Given the description of an element on the screen output the (x, y) to click on. 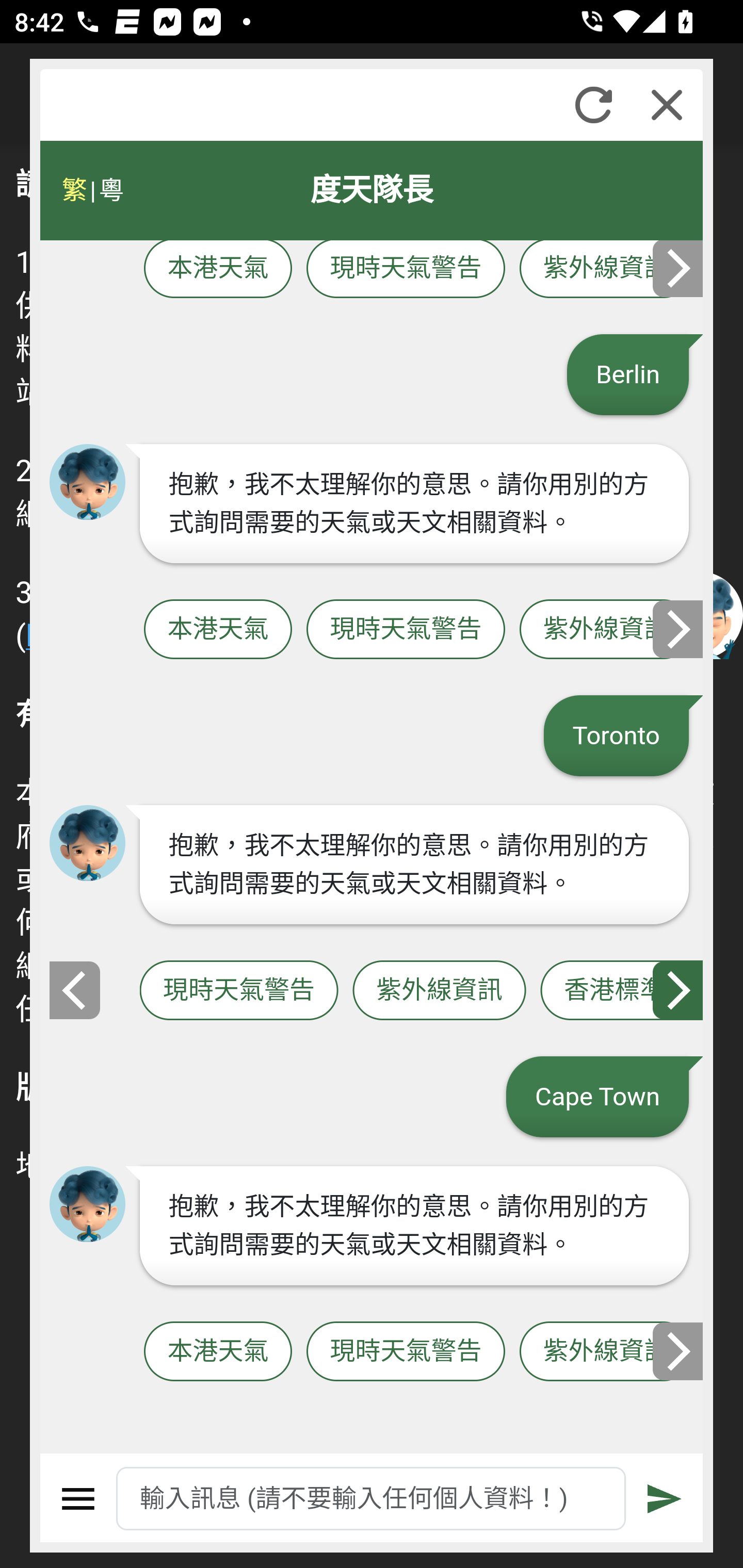
重新整理 (593, 104)
關閉 (666, 104)
二零二四年二月天氣回顧 - 和暖及少雨的二月 (413, 172)
繁 (73, 190)
粵 (110, 190)
本港天氣 (217, 268)
現時天氣警告 (405, 268)
紫外線資訊 (605, 268)
下一張 (678, 267)
本港天氣 (217, 629)
現時天氣警告 (405, 629)
紫外線資訊 (605, 629)
下一張 (678, 628)
上一張 (74, 989)
現時天氣警告 (238, 990)
紫外線資訊 (438, 990)
香港標準時間 (621, 990)
下一張 (678, 989)
本港天氣 (217, 1351)
現時天氣警告 (405, 1351)
紫外線資訊 (605, 1351)
下一張 (678, 1351)
選單 (78, 1498)
遞交 (665, 1498)
